Given the description of an element on the screen output the (x, y) to click on. 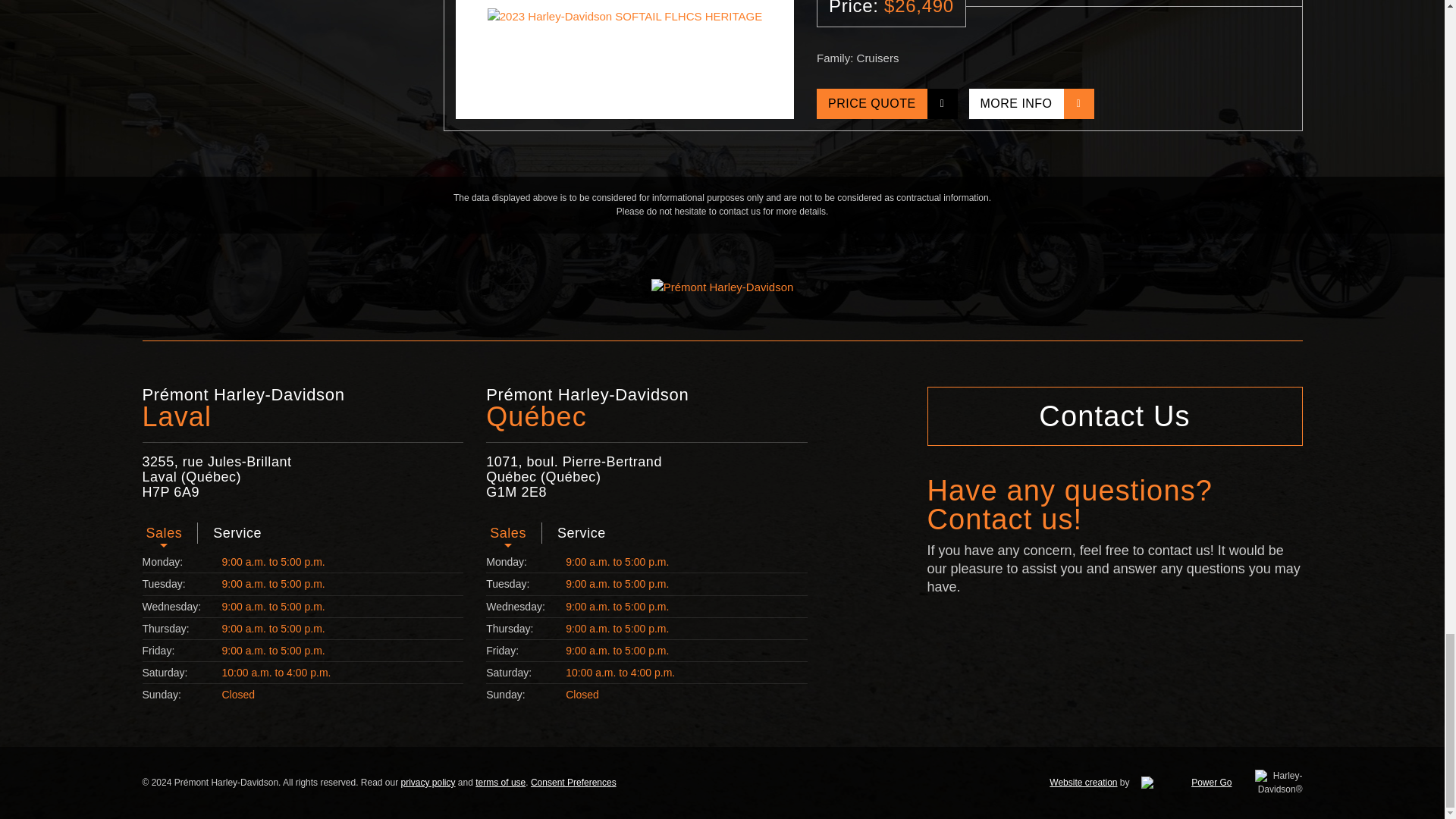
2023 Harley-Davidson SOFTAIL FLHCS HERITAGE (624, 59)
